Given the description of an element on the screen output the (x, y) to click on. 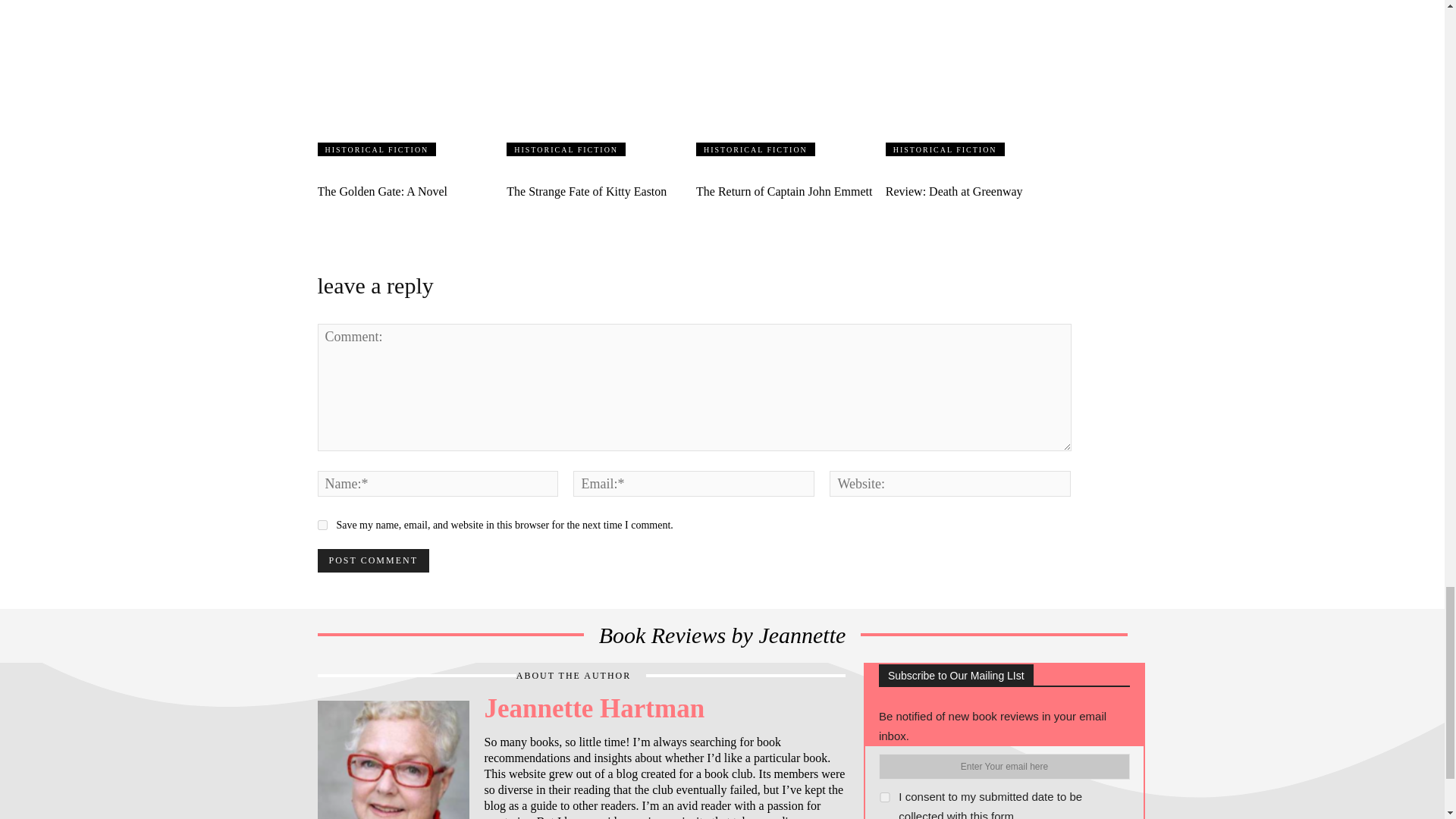
The Golden Gate: A Novel (409, 77)
The Strange Fate of Kitty Easton (586, 191)
on (885, 797)
HISTORICAL FICTION (376, 149)
Post Comment (372, 560)
The Golden Gate: A Novel (381, 191)
HISTORICAL FICTION (566, 149)
The Return of Captain John Emmett (783, 191)
yes (321, 524)
The Golden Gate: A Novel (381, 191)
